Given the description of an element on the screen output the (x, y) to click on. 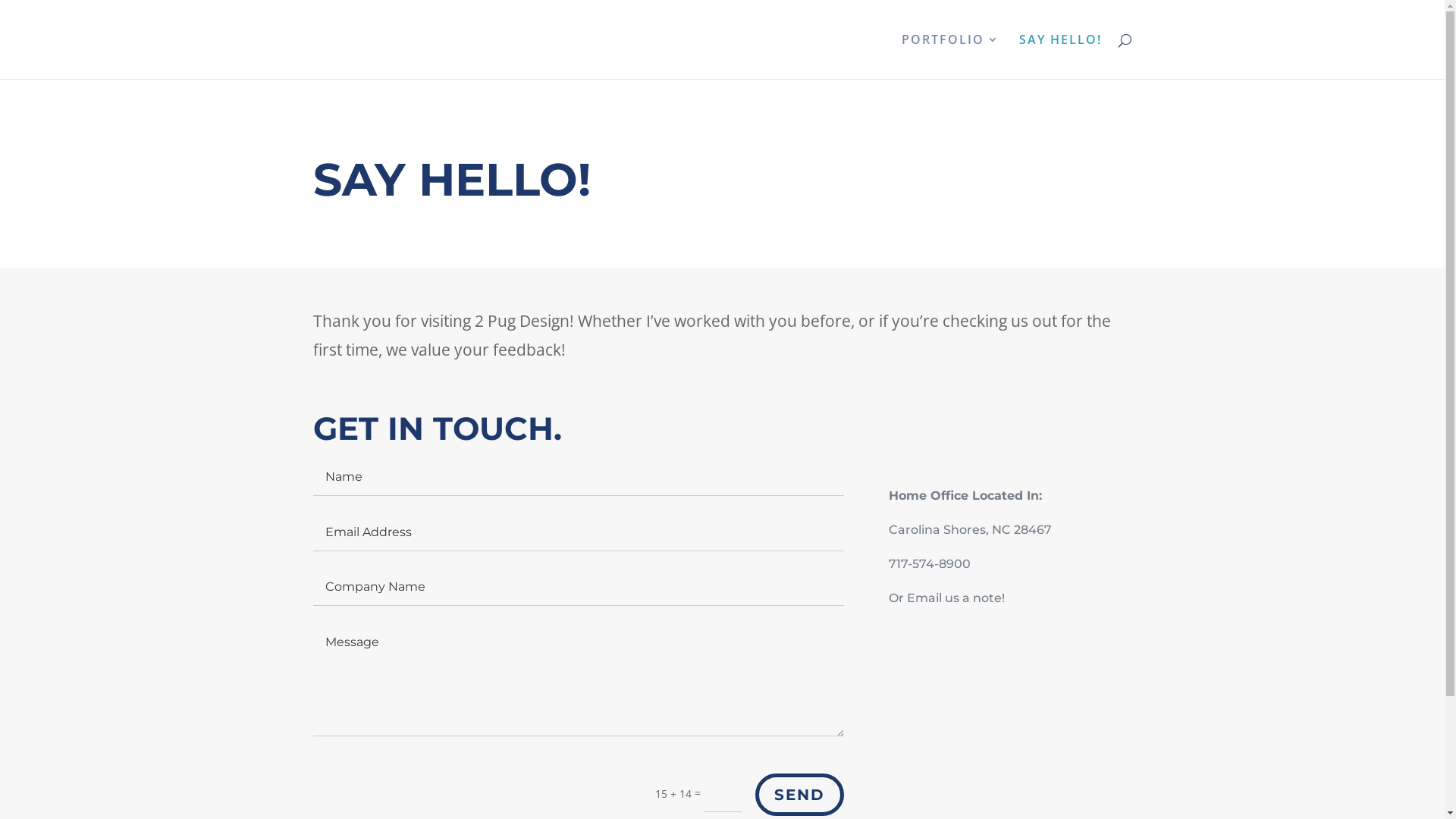
PORTFOLIO Element type: text (949, 56)
SEND Element type: text (799, 794)
SAY HELLO! Element type: text (1060, 56)
